Given the description of an element on the screen output the (x, y) to click on. 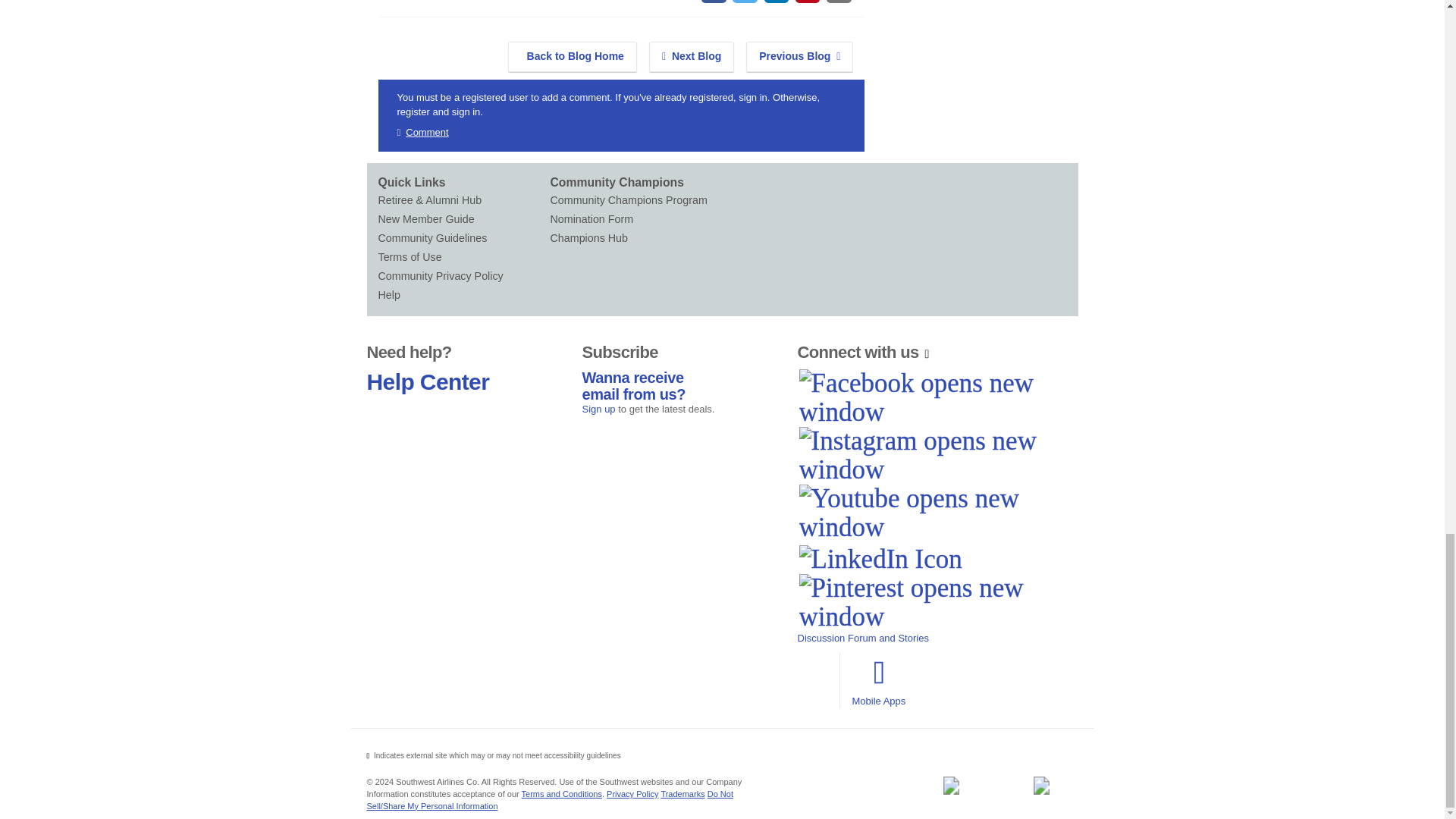
The total number of loves this post has received. (442, 0)
Southwest Cargo logo and link (1041, 785)
Blog (572, 56)
Southwest Business logo and link (950, 785)
Hangar Expansion Propels Phoenix into the Future (799, 56)
